Given the description of an element on the screen output the (x, y) to click on. 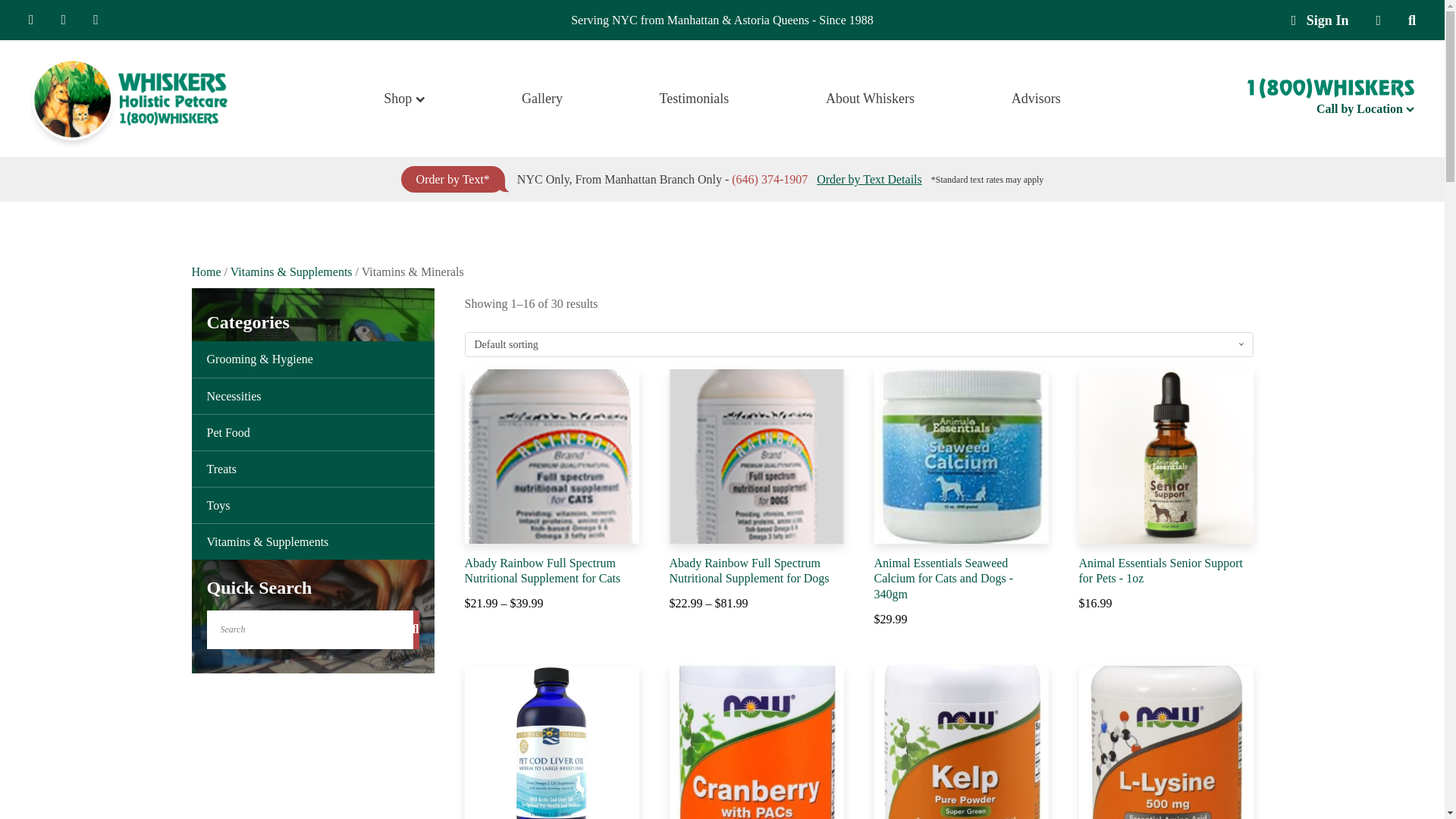
Advisors (1035, 98)
Shopping Cart (1377, 19)
Shop (1320, 19)
Call by Location (403, 98)
Testimonials (1364, 108)
About Whiskers (694, 98)
Sign In (869, 98)
Gallery (1320, 20)
